Given the description of an element on the screen output the (x, y) to click on. 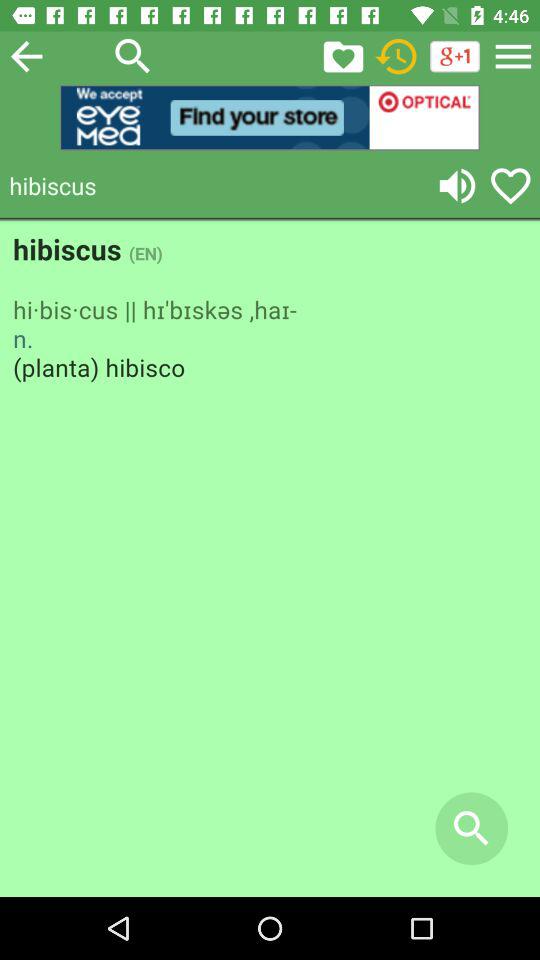
open menu (513, 56)
